Given the description of an element on the screen output the (x, y) to click on. 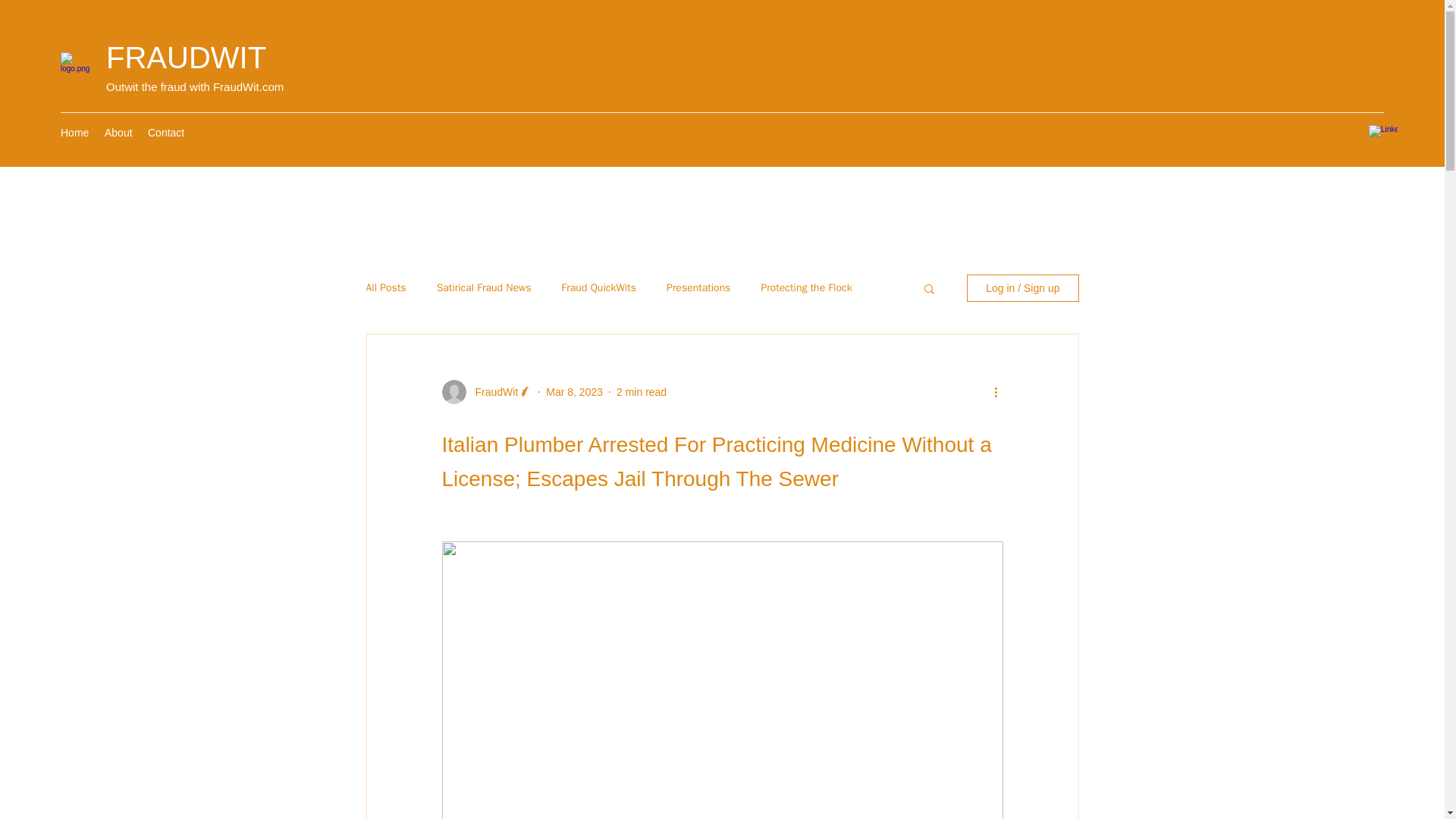
Protecting the Flock (805, 287)
Presentations (698, 287)
FRAUDWIT (186, 57)
2 min read (640, 390)
Home (74, 132)
Fraud QuickWits (599, 287)
FraudWit (491, 391)
Satirical Fraud News (483, 287)
All Posts (385, 287)
Contact (165, 132)
